Given the description of an element on the screen output the (x, y) to click on. 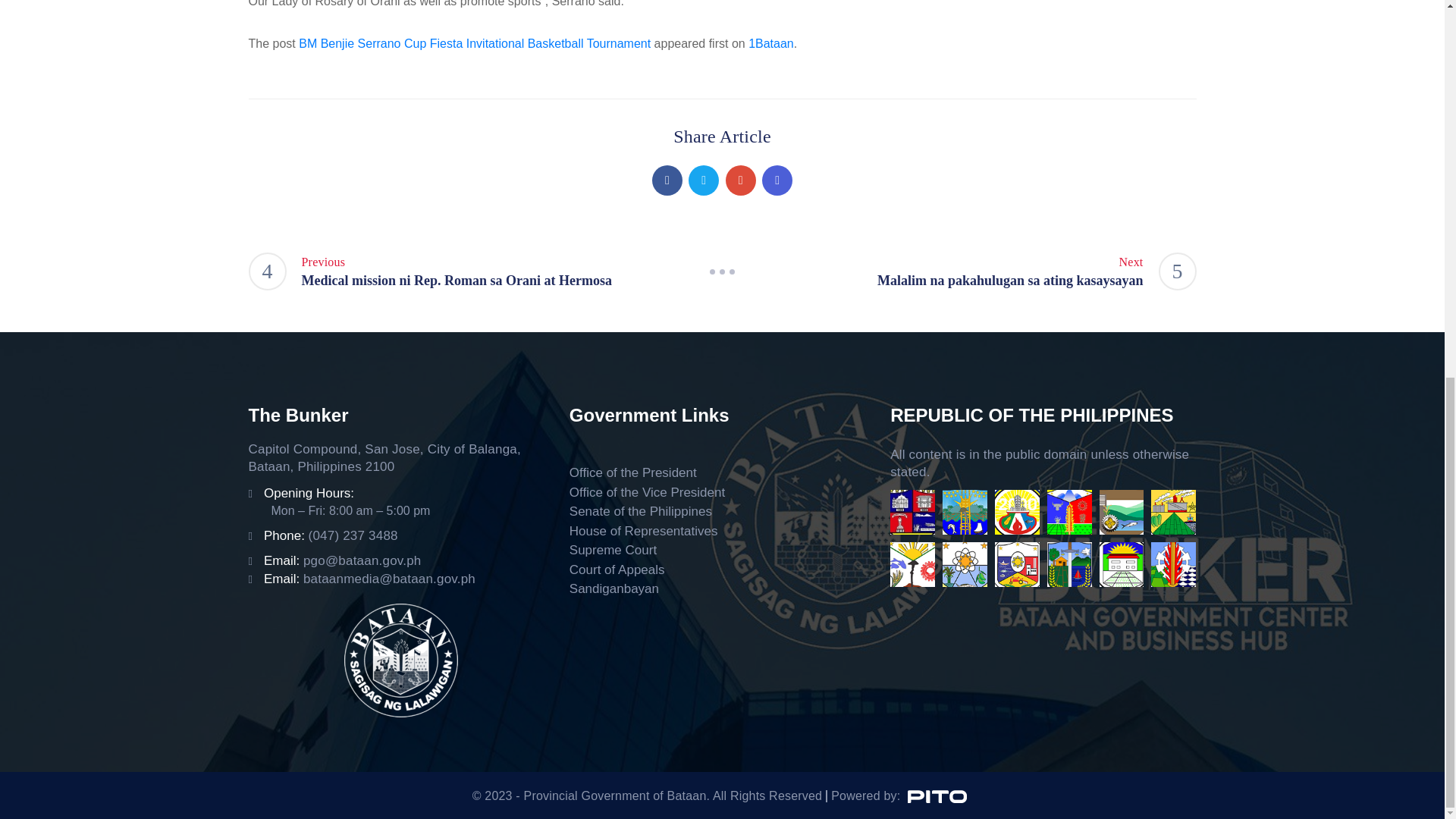
Twitter (703, 180)
Linkedin (776, 180)
poweredby-pito-2023 (936, 796)
Pinterest (740, 180)
Slash (722, 271)
Facebook (667, 180)
